Given the description of an element on the screen output the (x, y) to click on. 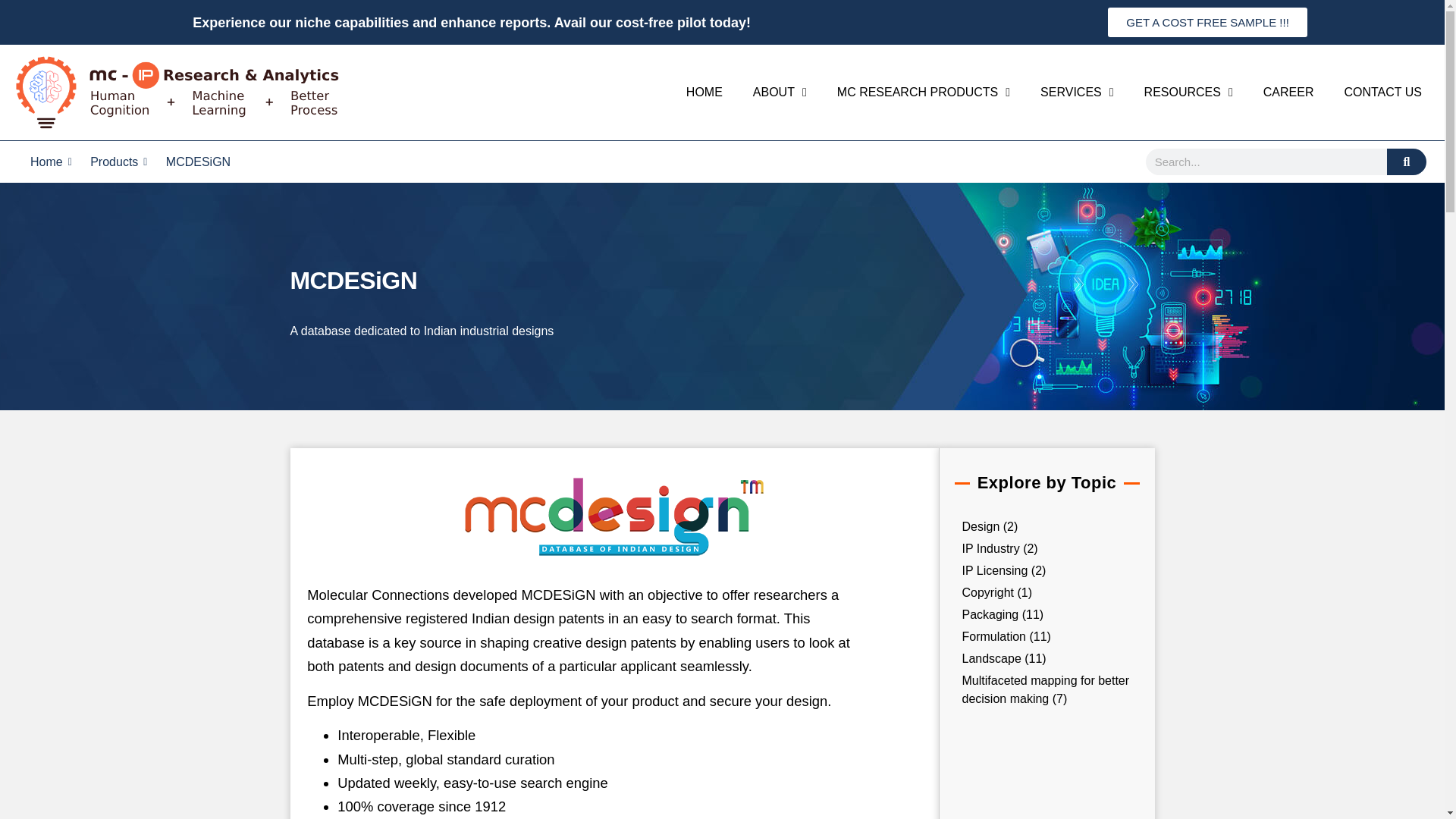
HOME (704, 92)
RESOURCES (1188, 92)
SERVICES (1076, 92)
MC RESEARCH PRODUCTS (923, 92)
GET A COST FREE SAMPLE !!! (1207, 21)
ABOUT (780, 92)
